Given the description of an element on the screen output the (x, y) to click on. 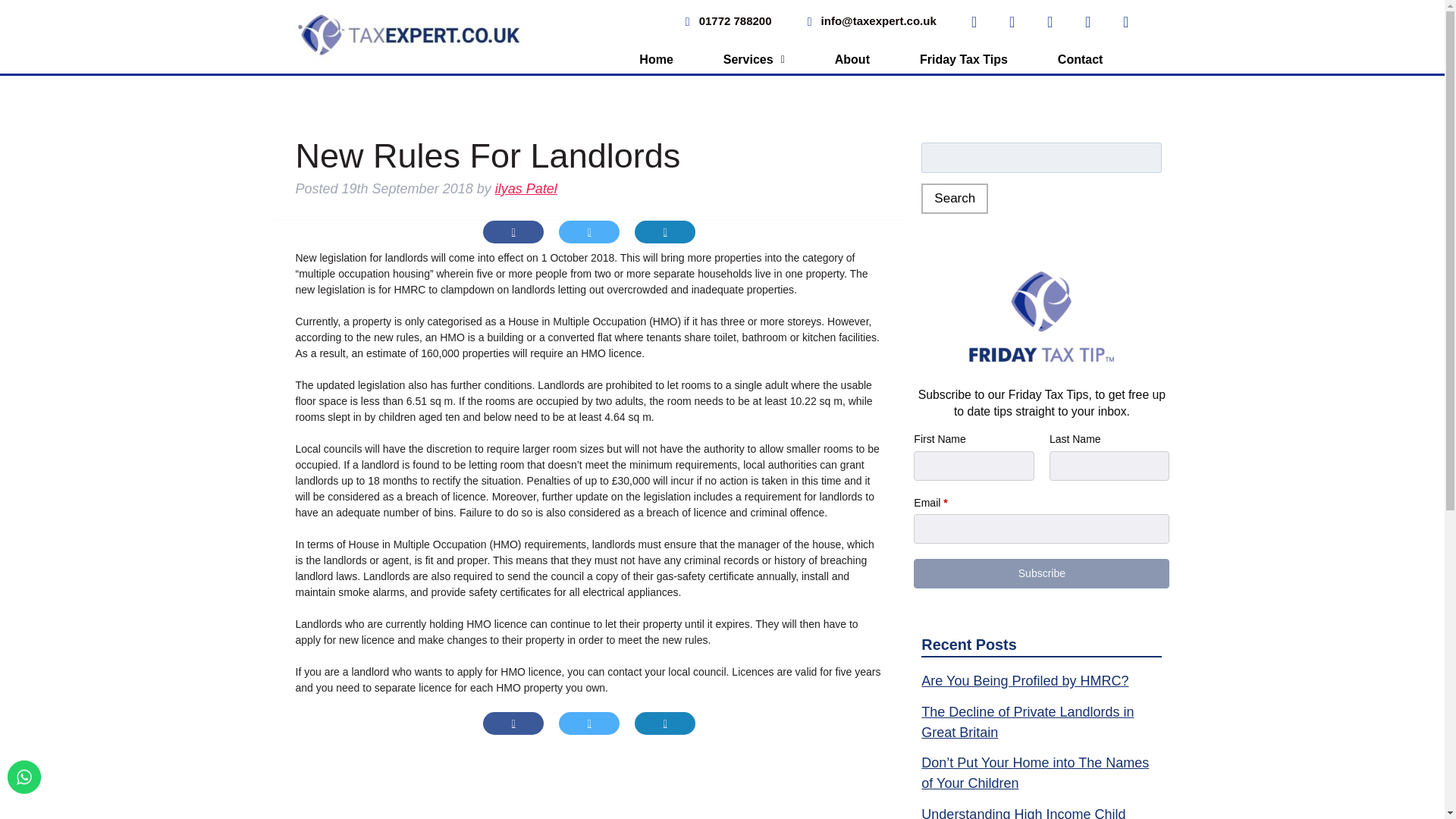
Contact (1080, 59)
01772 788200 (725, 21)
Services (754, 59)
About (852, 59)
Search (954, 198)
Home (656, 59)
Friday Tax Tips (963, 59)
